Given the description of an element on the screen output the (x, y) to click on. 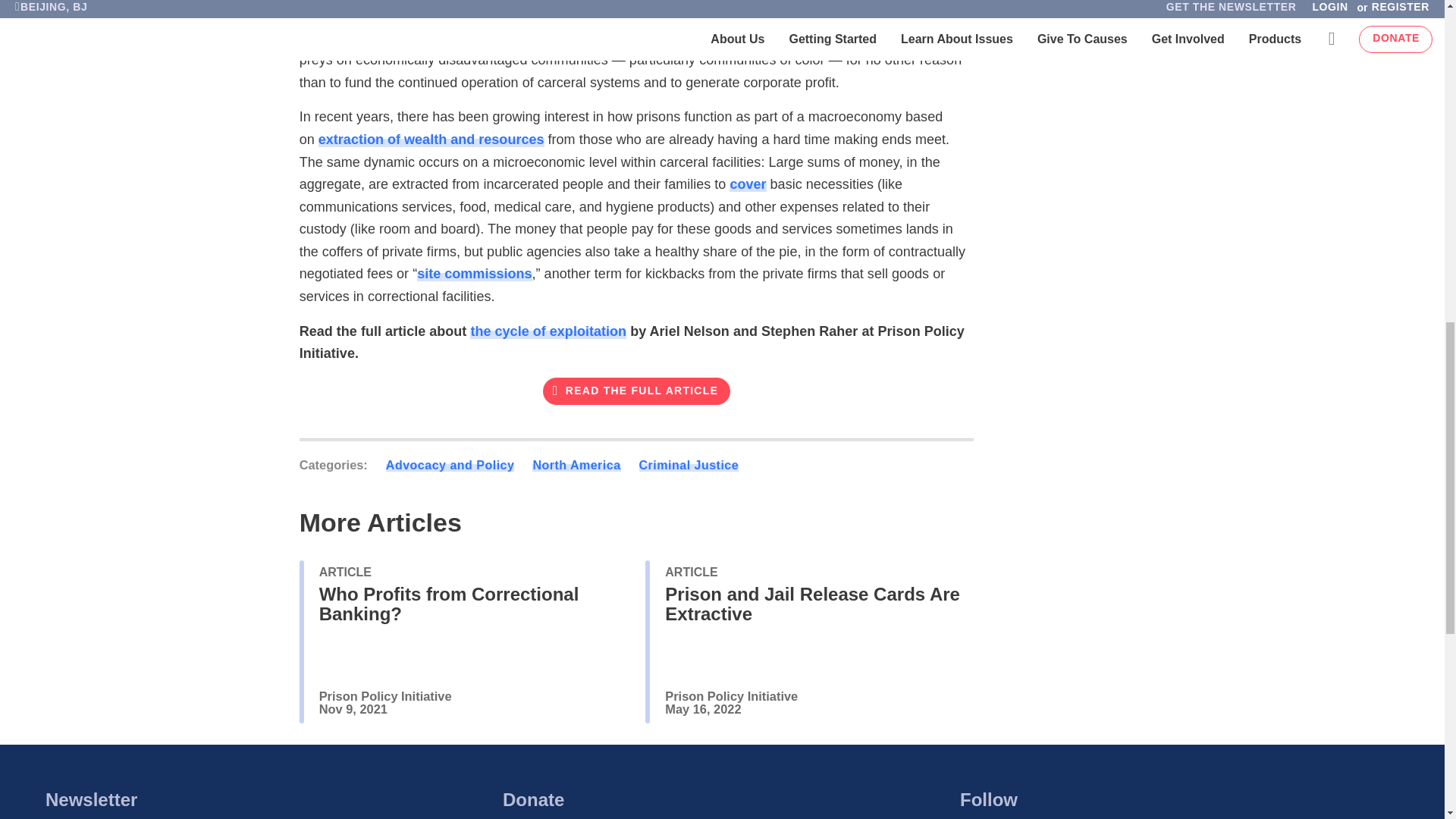
the cycle of exploitation (548, 331)
site commissions (473, 273)
extraction of wealth and resources (431, 139)
North America (576, 464)
Advocacy and Policy (450, 464)
cover (747, 183)
Criminal Justice (689, 464)
READ THE FULL ARTICLE (636, 390)
